Given the description of an element on the screen output the (x, y) to click on. 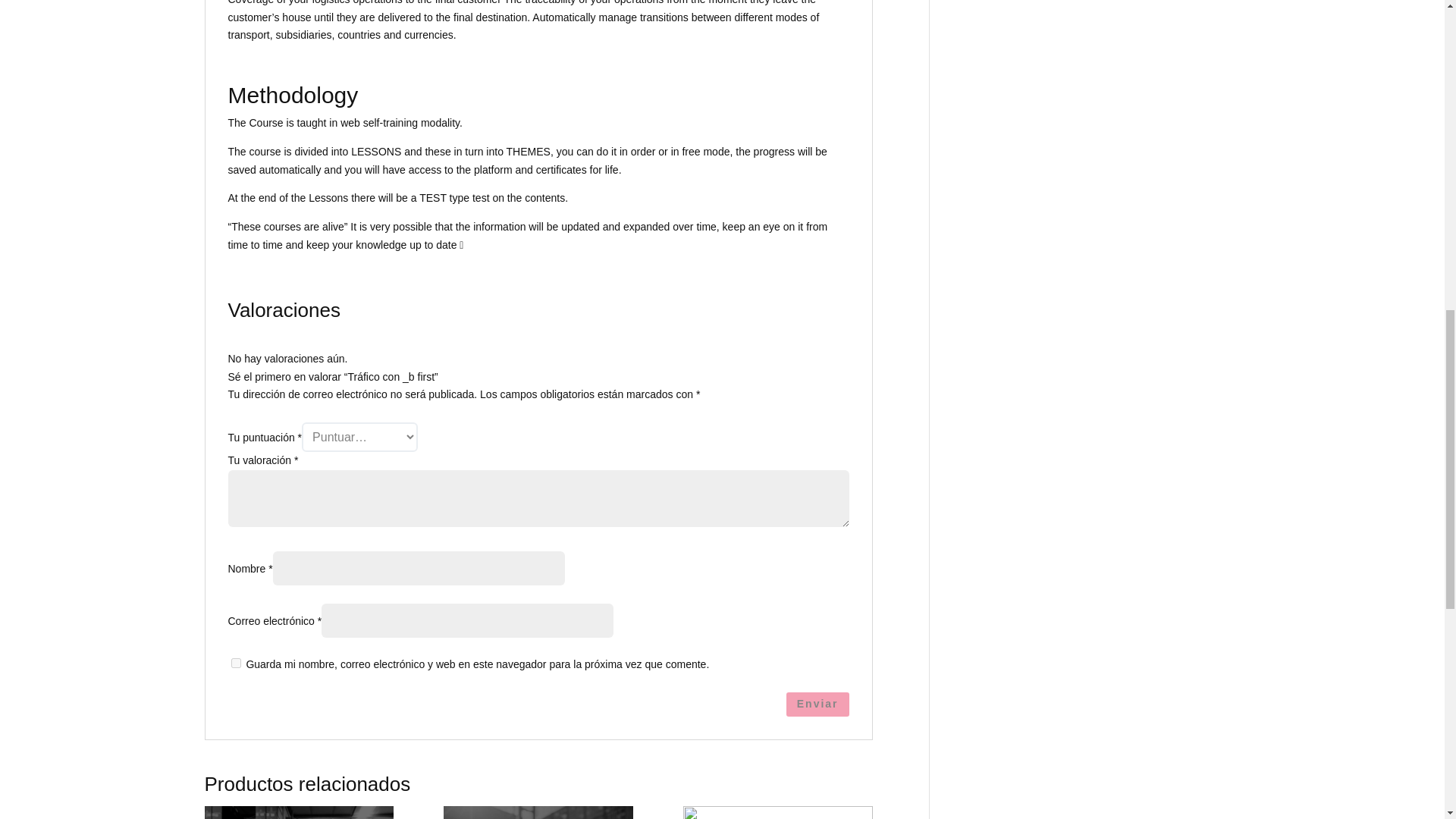
yes (235, 663)
Enviar (817, 704)
Enviar (817, 704)
